Given the description of an element on the screen output the (x, y) to click on. 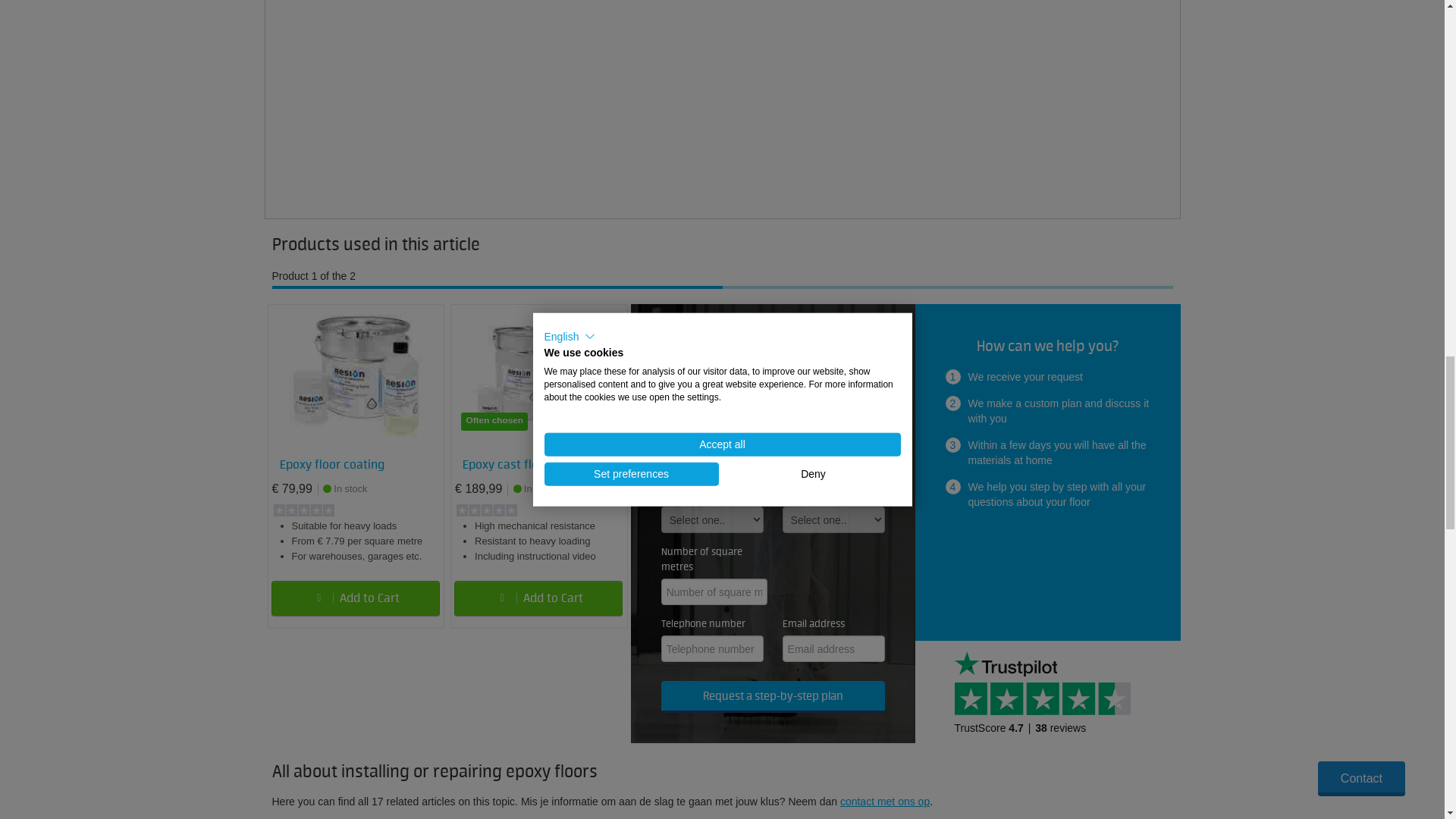
Customer reviews powered by Trustpilot (1046, 691)
